Given the description of an element on the screen output the (x, y) to click on. 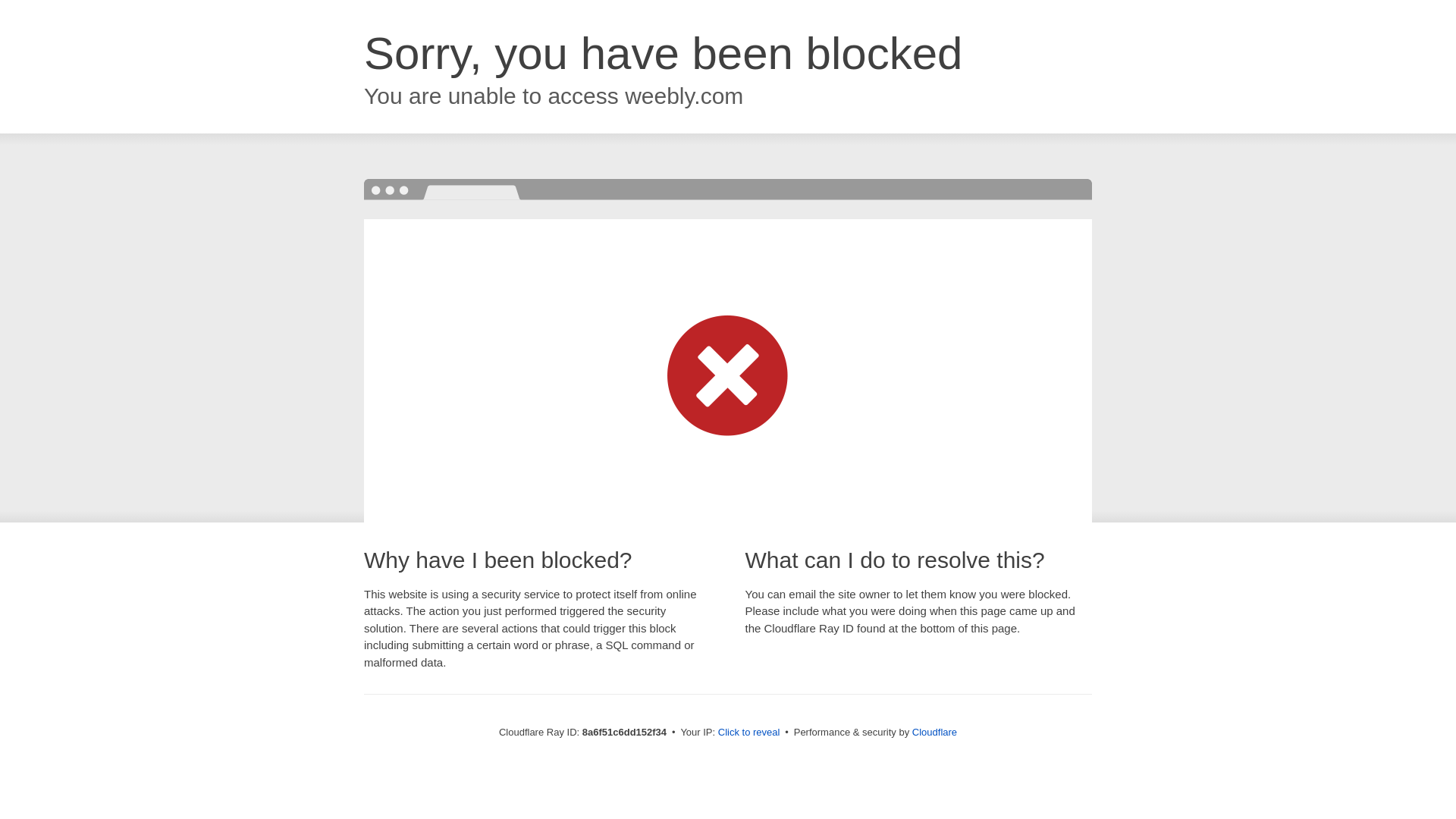
Click to reveal (748, 732)
Cloudflare (934, 731)
